Given the description of an element on the screen output the (x, y) to click on. 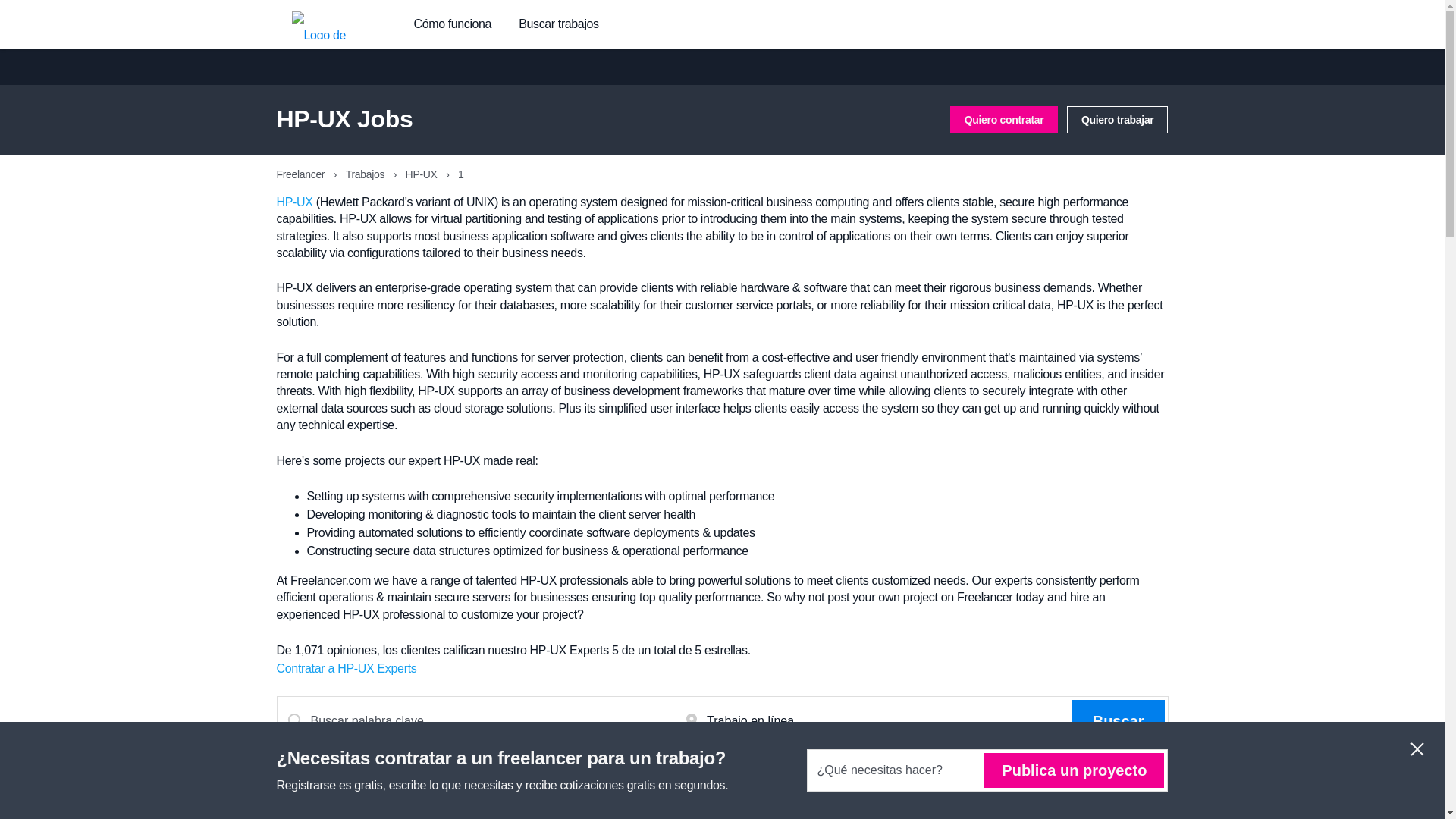
Buscar trabajos (558, 24)
Quiero contratar (1004, 119)
0 (1086, 796)
Freelancer (301, 174)
HP-UX (294, 201)
Last (1128, 796)
First (1044, 796)
Quiero trabajar (1118, 119)
Buscar (1117, 721)
HP-UX (423, 174)
